Given the description of an element on the screen output the (x, y) to click on. 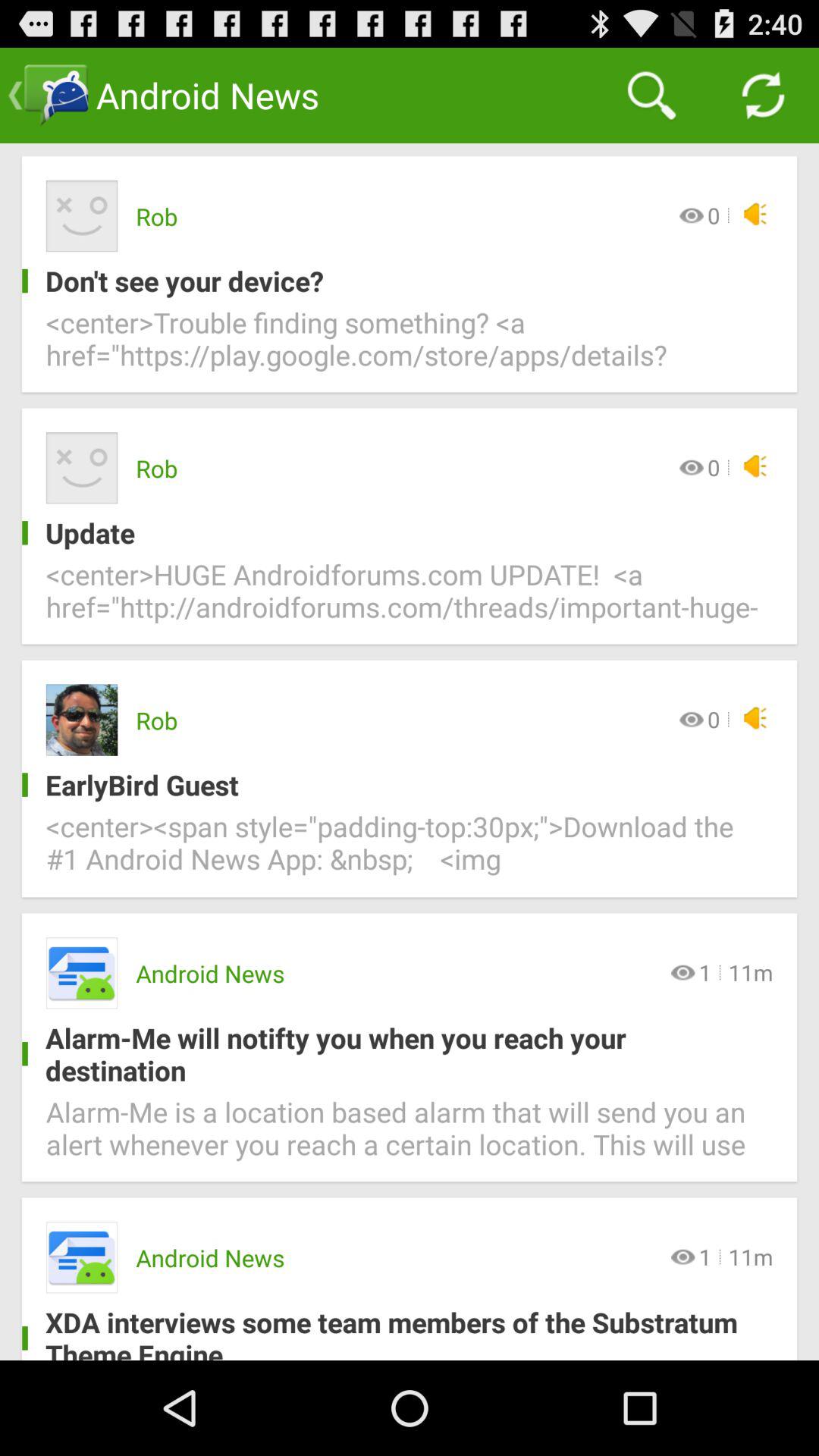
turn on the earlybird guest (397, 784)
